Given the description of an element on the screen output the (x, y) to click on. 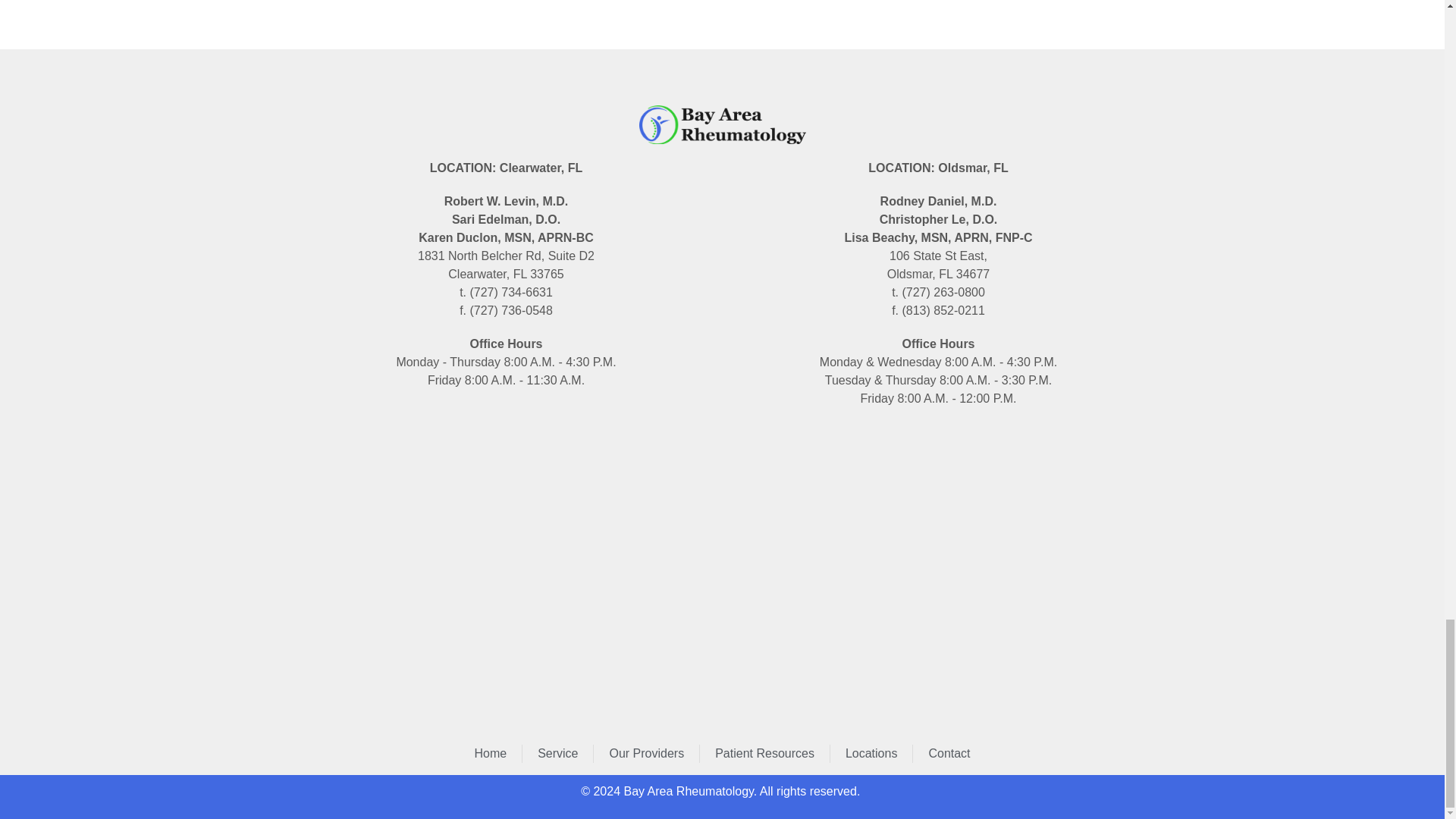
Clearwater, FL 33765 (505, 556)
Oldsmar, FL 34677 (938, 574)
